Given the description of an element on the screen output the (x, y) to click on. 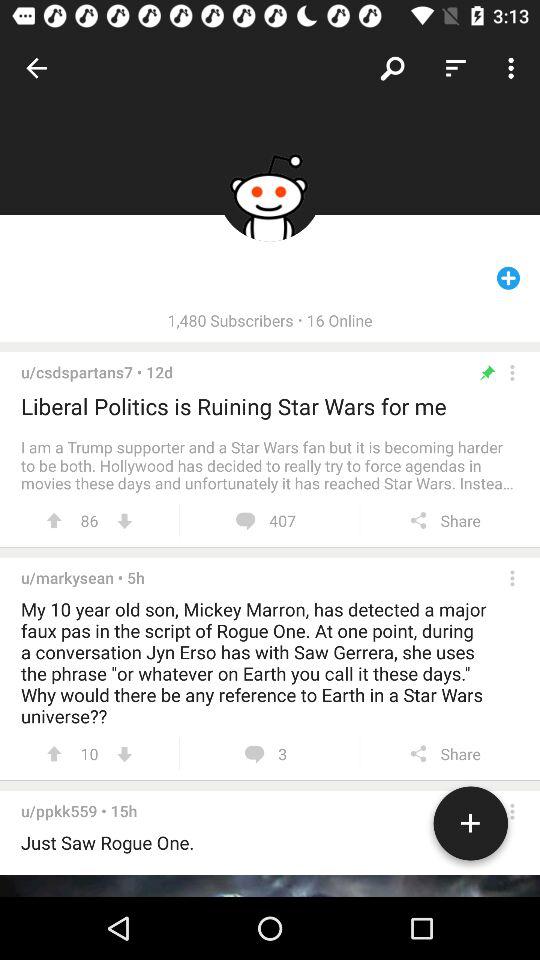
number of views (124, 753)
